Given the description of an element on the screen output the (x, y) to click on. 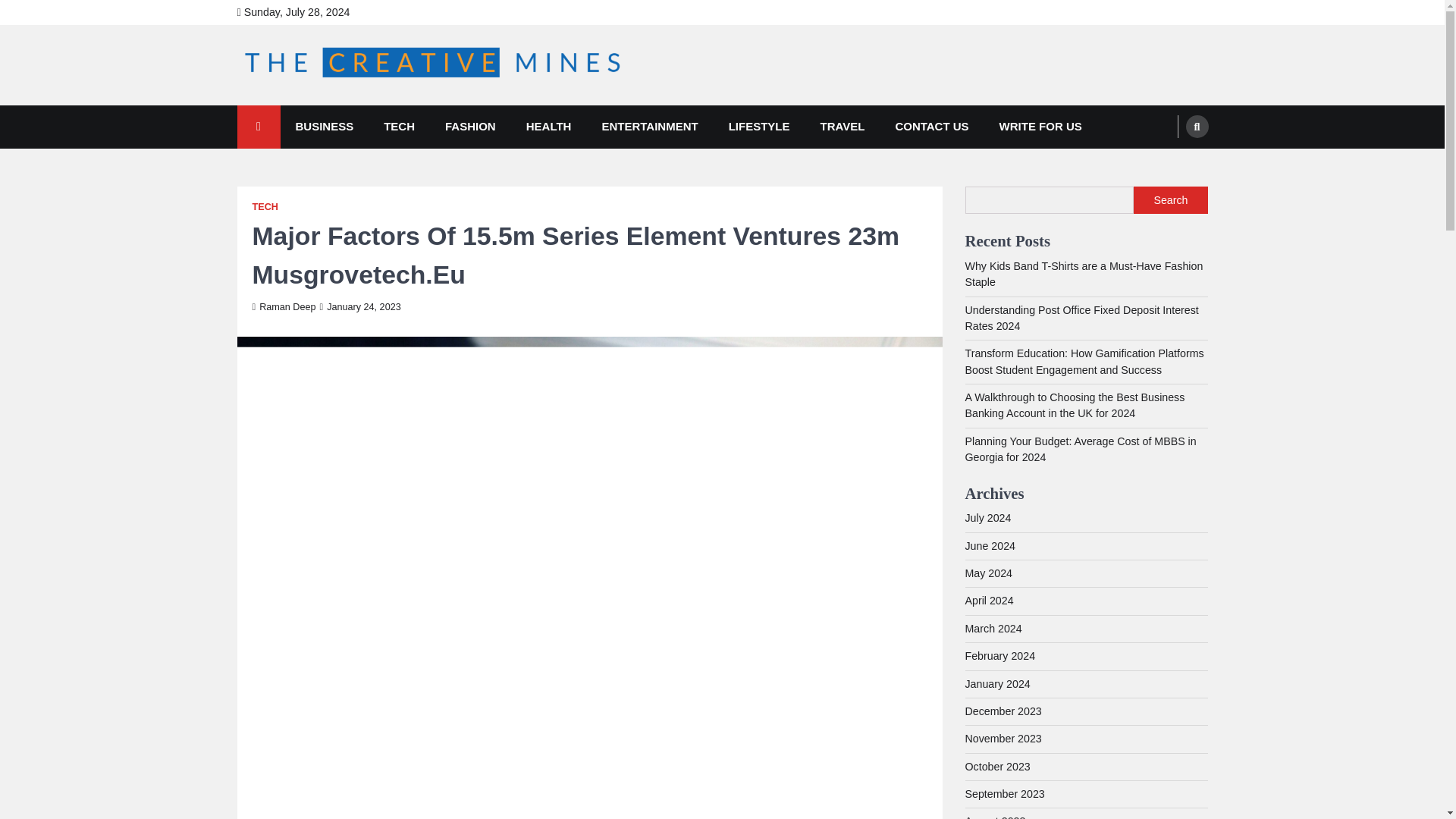
TRAVEL (842, 126)
Why Kids Band T-Shirts are a Must-Have Fashion Staple (1082, 274)
TECH (398, 126)
January 24, 2023 (360, 307)
FASHION (470, 126)
Search (1168, 162)
HEALTH (548, 126)
Understanding Post Office Fixed Deposit Interest Rates 2024 (1080, 317)
LIFESTYLE (759, 126)
Search (1197, 126)
Search (1170, 199)
BUSINESS (325, 126)
WRITE FOR US (1040, 126)
CONTACT US (931, 126)
